Given the description of an element on the screen output the (x, y) to click on. 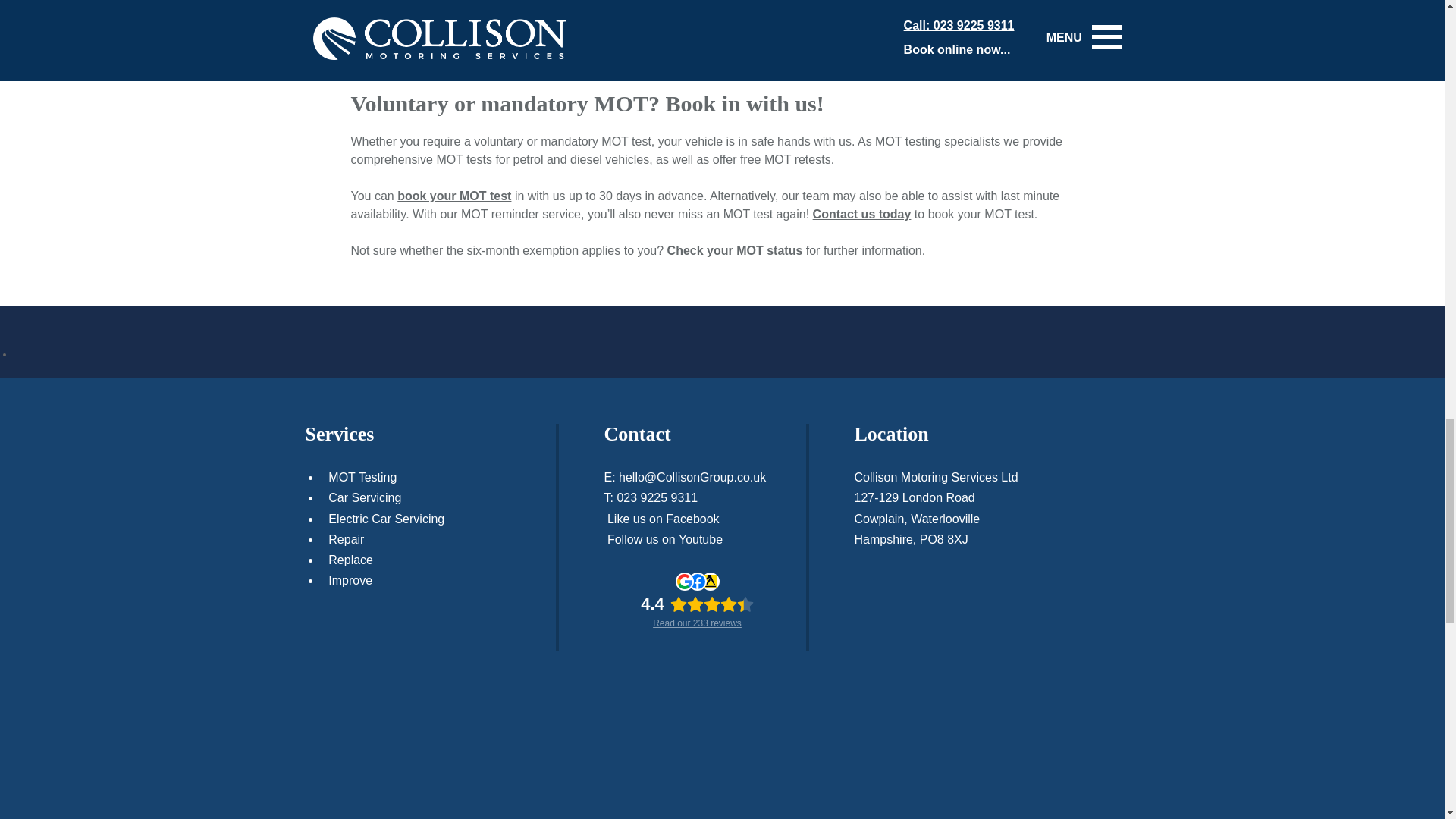
here (923, 7)
guide to the basic weekly car checks anyone can do (616, 62)
